Given the description of an element on the screen output the (x, y) to click on. 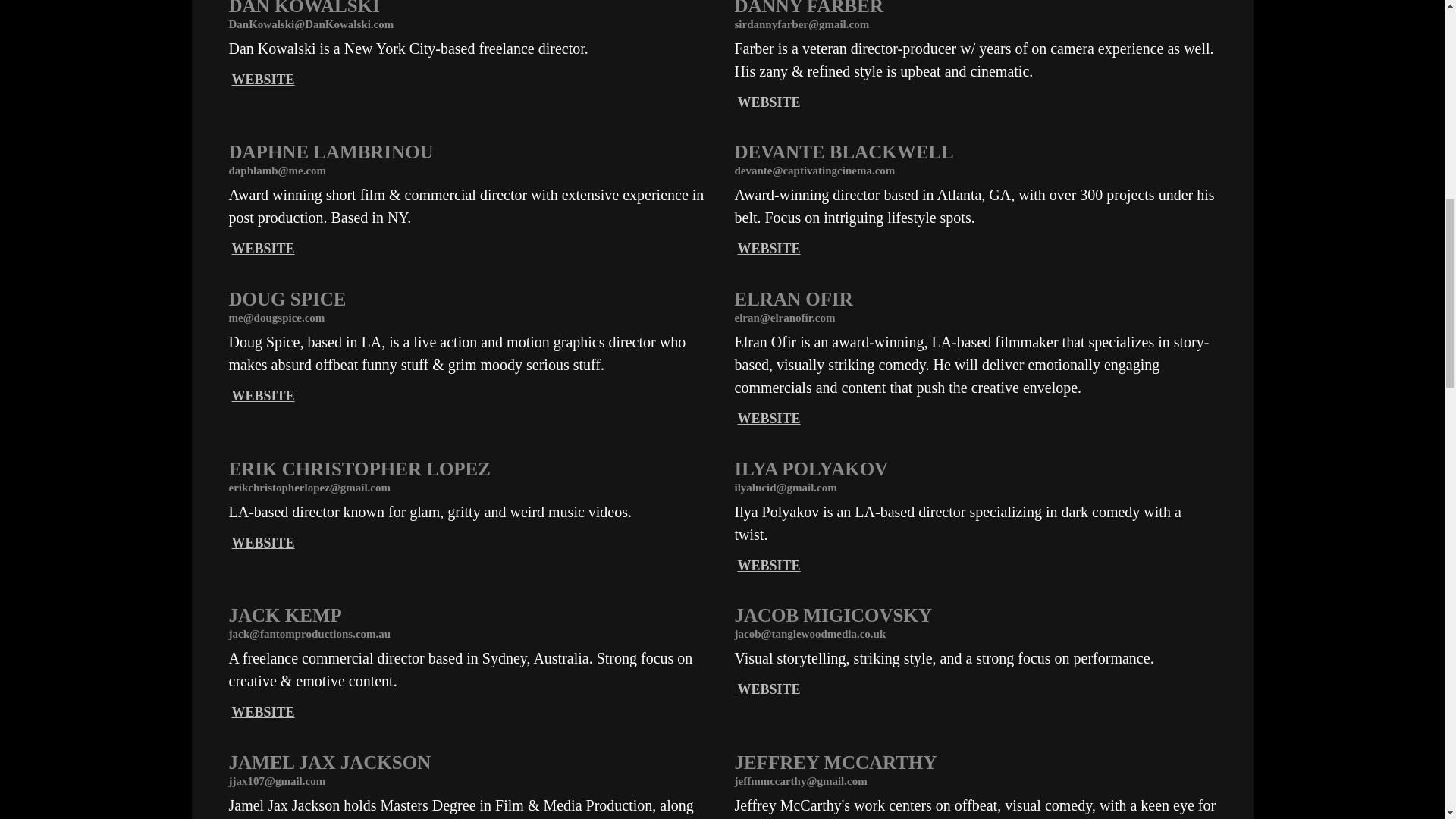
WEBSITE (263, 395)
WEBSITE (767, 248)
WEBSITE (767, 688)
WEBSITE (263, 542)
WEBSITE (263, 248)
WEBSITE (767, 565)
WEBSITE (263, 711)
WEBSITE (767, 418)
WEBSITE (767, 102)
WEBSITE (263, 79)
